Given the description of an element on the screen output the (x, y) to click on. 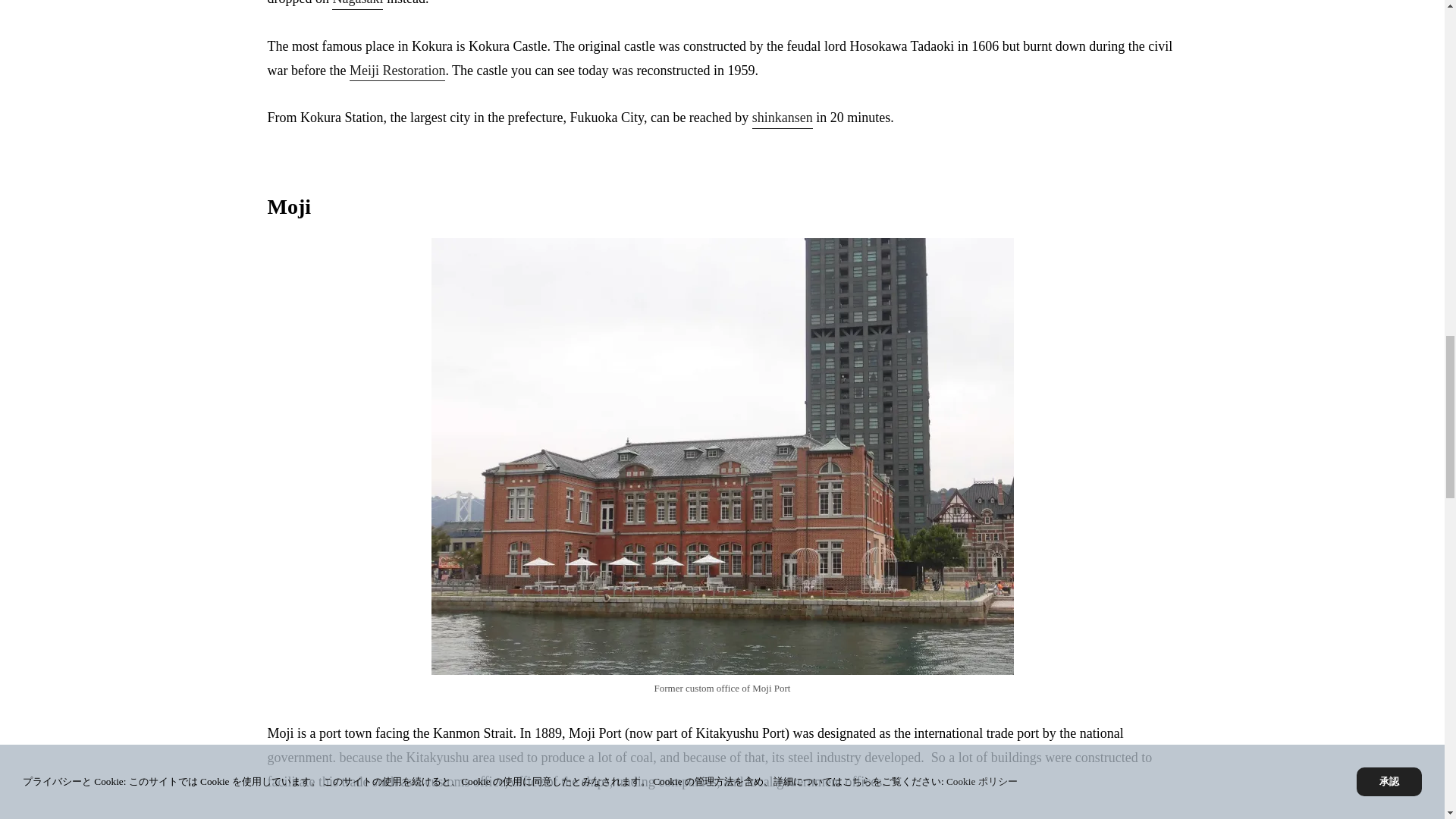
Meiji Restoration (397, 72)
shinkansen (782, 118)
Nagasaki (356, 4)
